Given the description of an element on the screen output the (x, y) to click on. 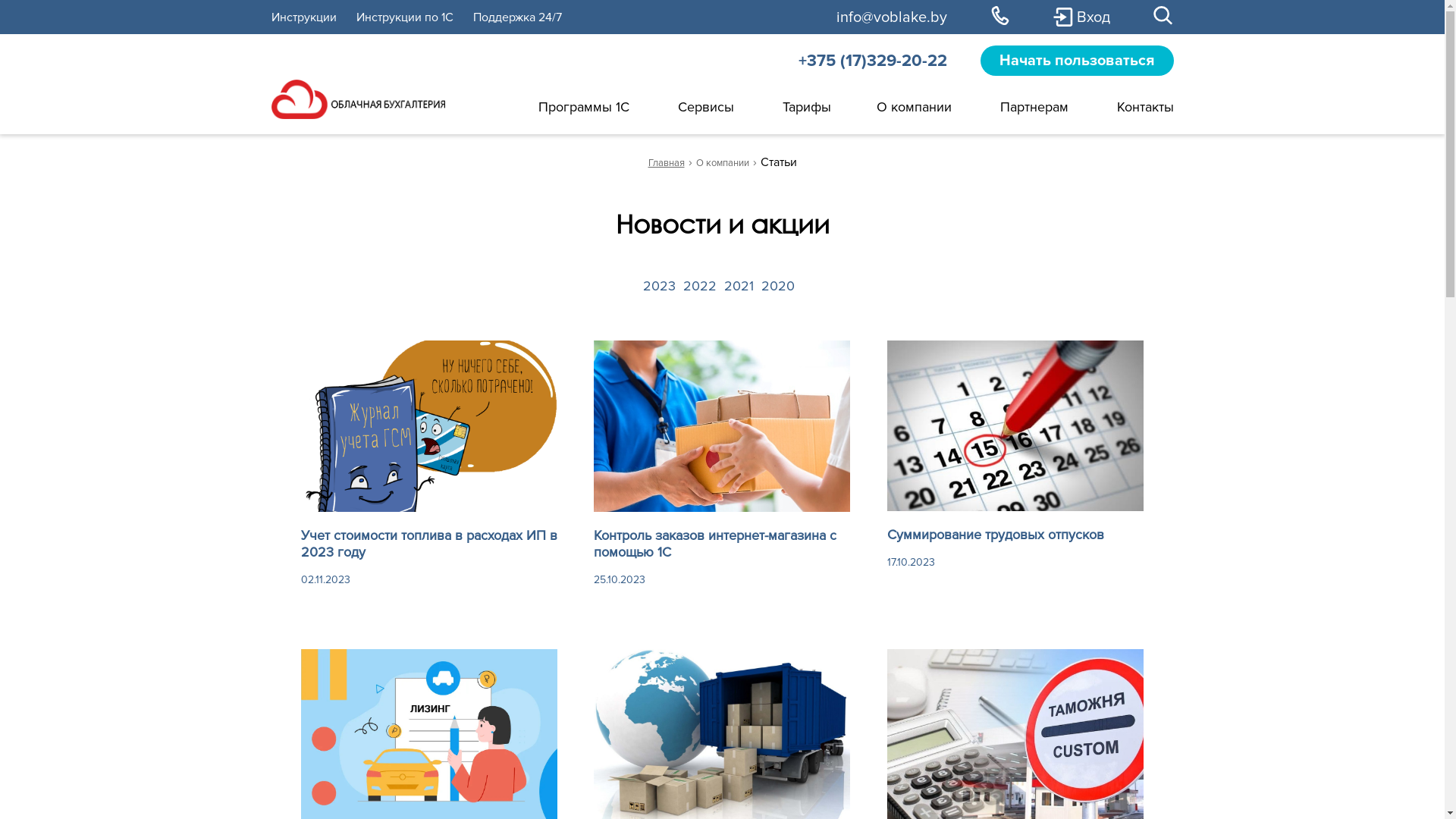
info@voblake.by Element type: text (890, 16)
+375 (17)329-20-22 Element type: text (871, 60)
